Given the description of an element on the screen output the (x, y) to click on. 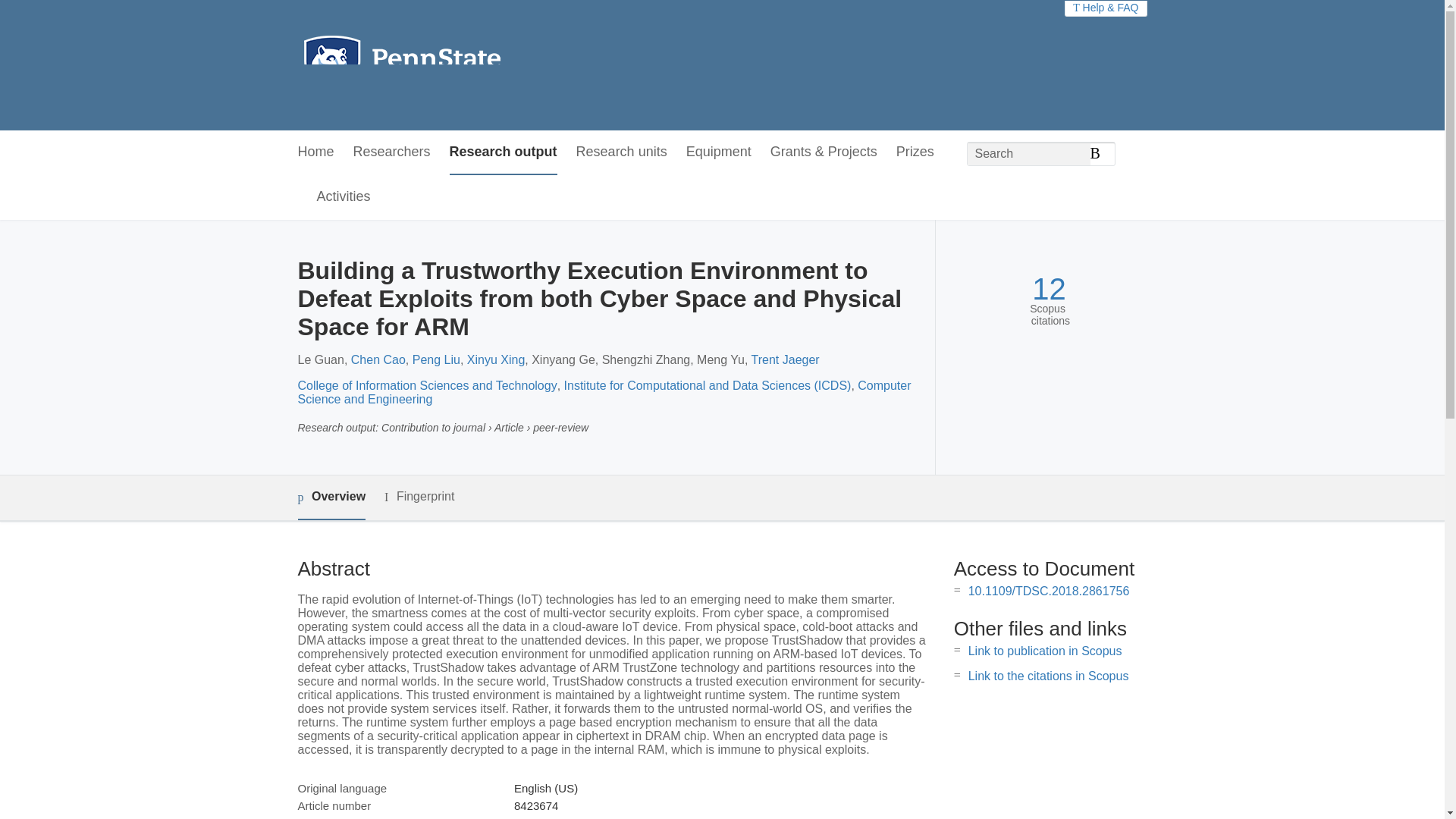
Penn State Home (467, 65)
Activities (344, 197)
Researchers (391, 152)
Trent Jaeger (785, 359)
12 (1048, 289)
Overview (331, 497)
Chen Cao (378, 359)
Link to publication in Scopus (1045, 650)
Fingerprint (419, 496)
Equipment (718, 152)
Research output (503, 152)
Xinyu Xing (496, 359)
Computer Science and Engineering (604, 392)
College of Information Sciences and Technology (426, 385)
